Given the description of an element on the screen output the (x, y) to click on. 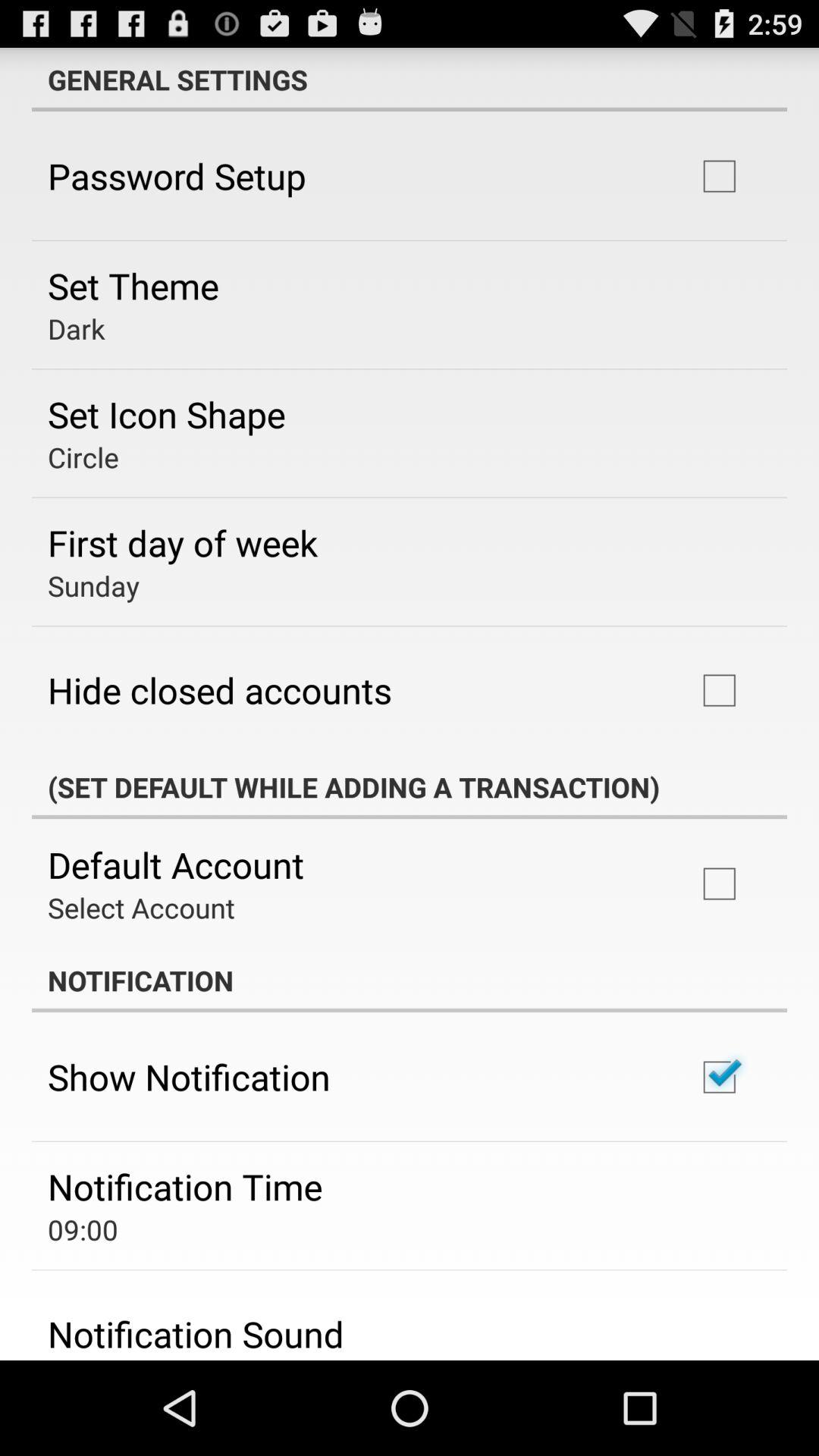
open the icon above the notification app (140, 907)
